Given the description of an element on the screen output the (x, y) to click on. 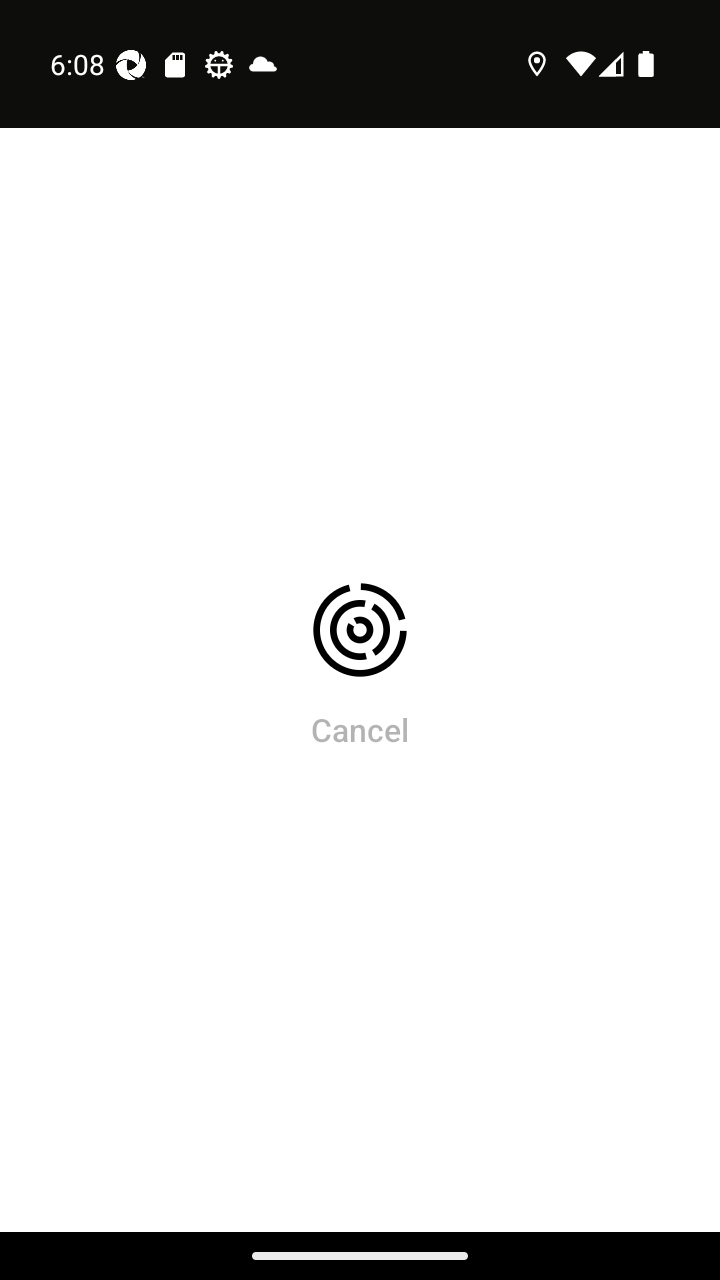
Cancel (360, 729)
